Given the description of an element on the screen output the (x, y) to click on. 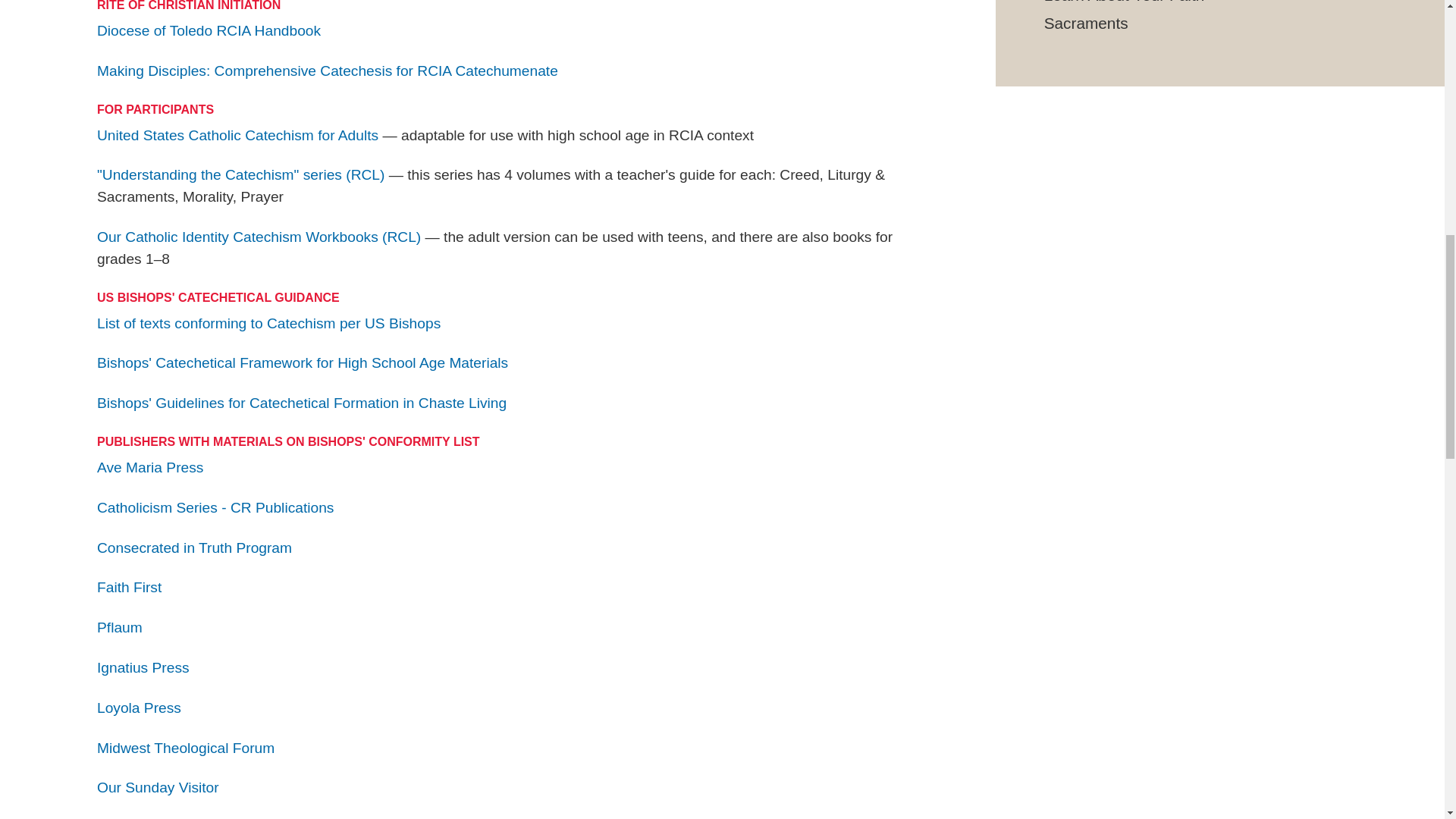
Ignatius Press (143, 668)
Loyola Press (138, 708)
Midwest Theological Forum (186, 748)
List of texts conforming to Catechism per US Bishops (269, 323)
Catholicism Series - CR Publications (215, 507)
Diocese of Toledo RCIA Handbook (208, 30)
Pflaum (119, 627)
United States Catholic Catechism for Adults (237, 135)
Consecrated in Truth Program (194, 547)
Faith First (129, 587)
Our Sunday Visitor (158, 787)
Ave Maria Press (150, 467)
